Given the description of an element on the screen output the (x, y) to click on. 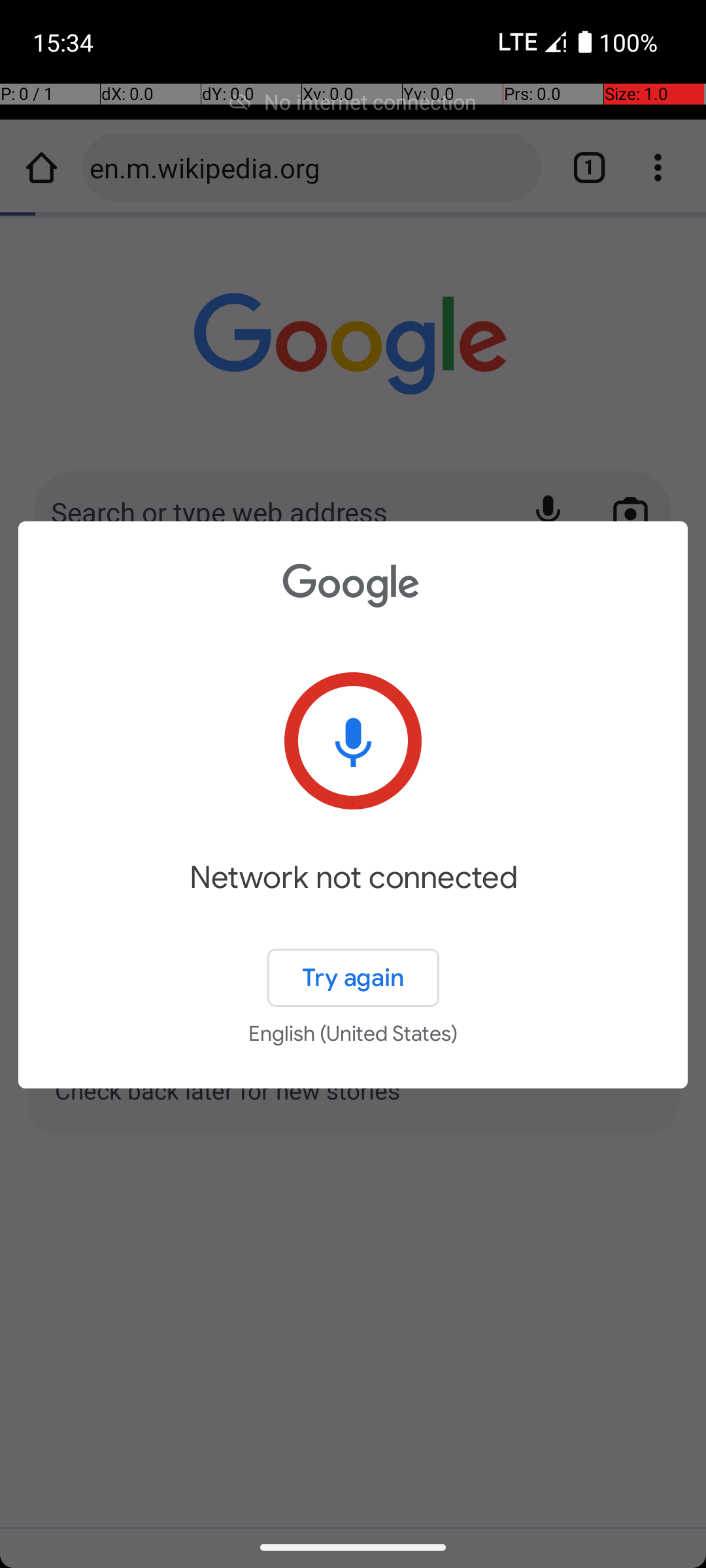
Network not connected Element type: android.widget.TextView (352, 895)
Try again Element type: android.widget.Button (353, 977)
